Given the description of an element on the screen output the (x, y) to click on. 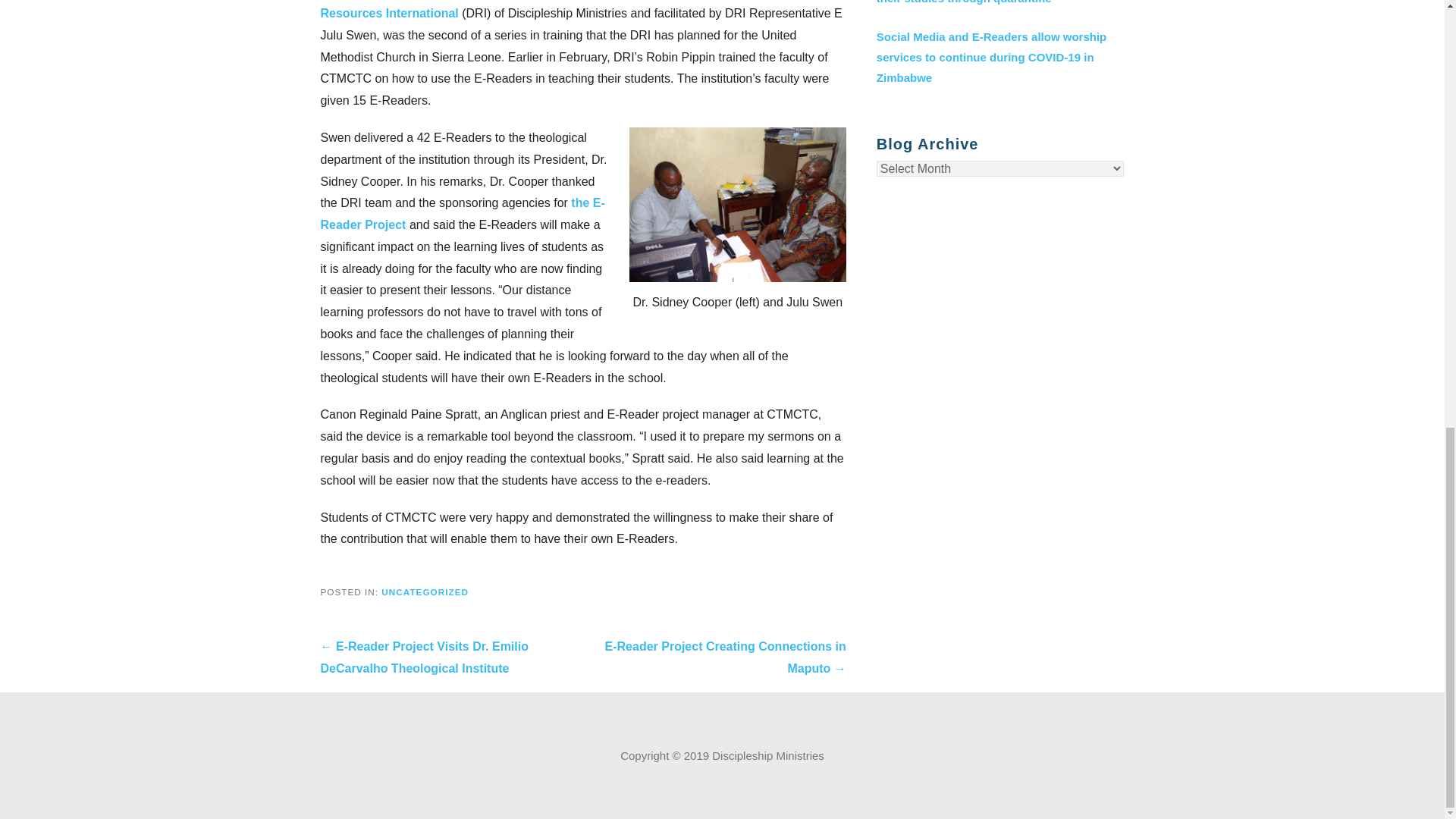
UNCATEGORIZED (424, 592)
the E-Reader Project (462, 213)
Discipleship Resources International (571, 9)
